Given the description of an element on the screen output the (x, y) to click on. 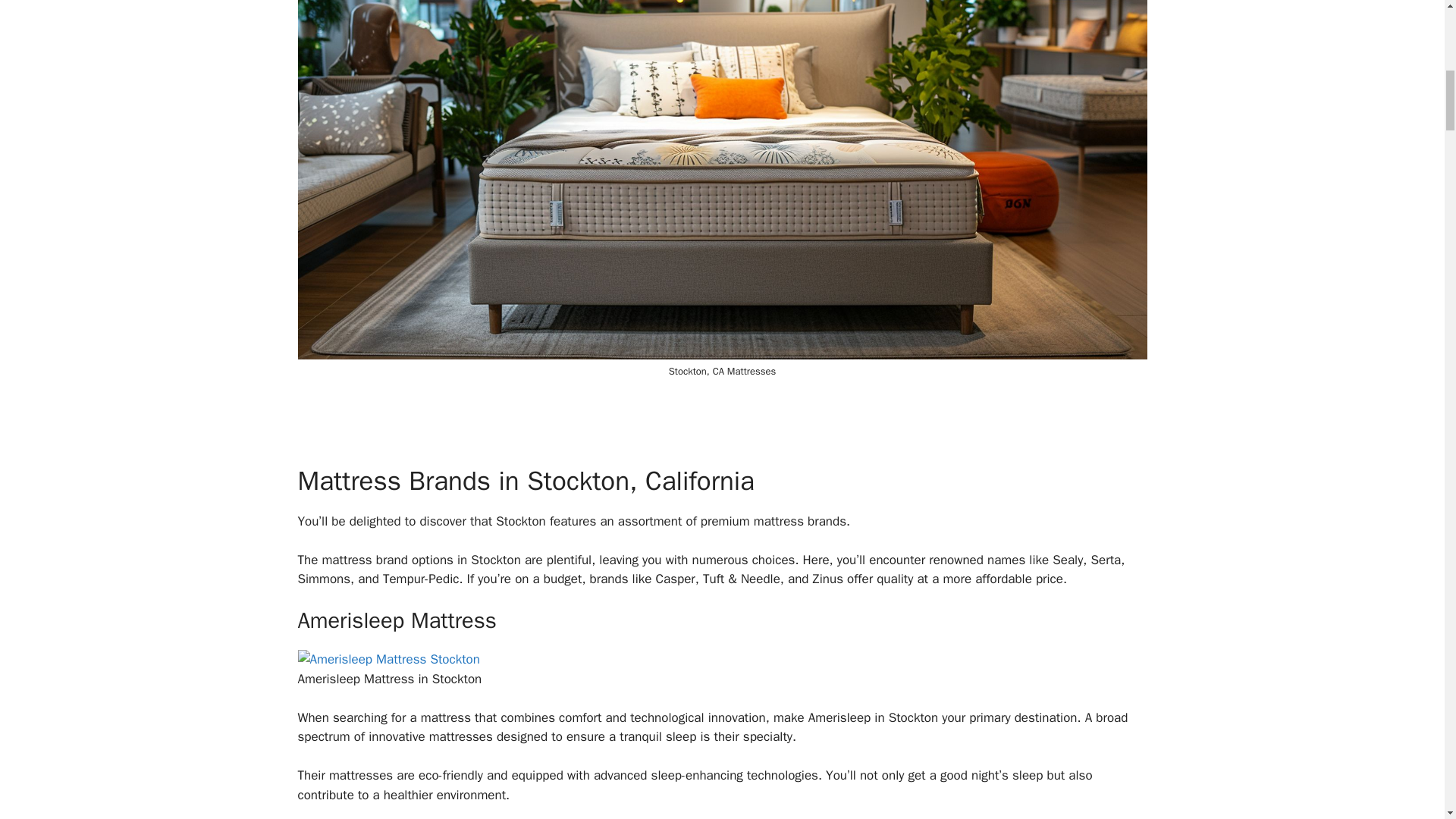
Amerisleep Mattress Stockton (388, 659)
